Given the description of an element on the screen output the (x, y) to click on. 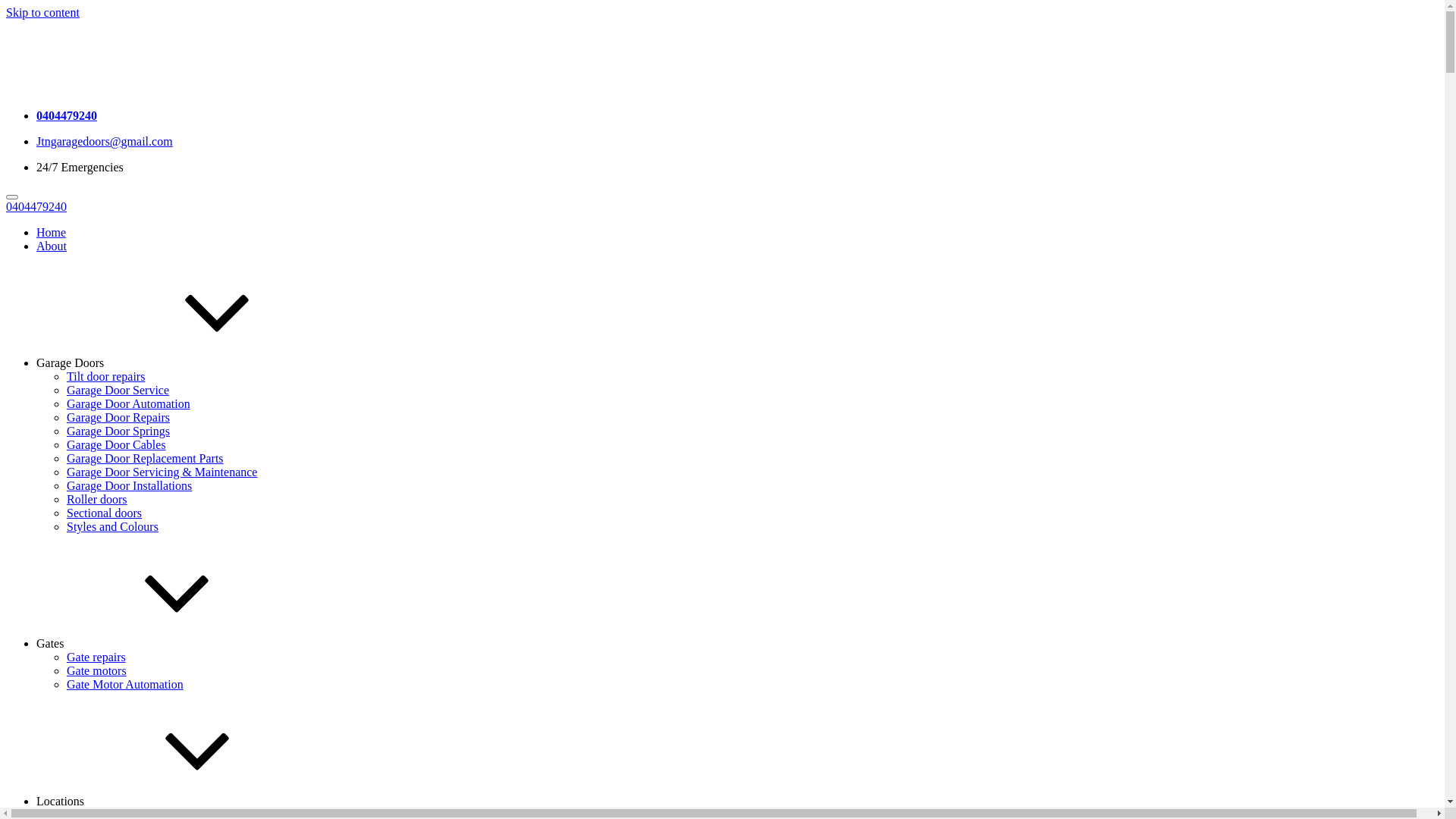
Locations Element type: text (173, 800)
0404479240 Element type: text (66, 115)
Gates Element type: text (163, 643)
Tilt door repairs Element type: text (105, 376)
Garage Door Installations Element type: text (128, 485)
Skip to content Element type: text (42, 12)
Roller doors Element type: text (96, 498)
0404479240 Element type: text (36, 206)
Garage Doors Element type: text (183, 362)
Garage Door Repairs Element type: text (117, 417)
Garage Door Service Element type: text (117, 389)
Home Element type: text (50, 231)
Garage Door Servicing & Maintenance Element type: text (161, 471)
About Element type: text (51, 245)
Styles and Colours Element type: text (112, 526)
Sectional doors Element type: text (103, 512)
Gate Motor Automation Element type: text (124, 683)
Jtngaragedoors@gmail.com Element type: text (104, 140)
Gate repairs Element type: text (95, 656)
Garage Door Springs Element type: text (117, 430)
Garage Door Replacement Parts Element type: text (144, 457)
Gate motors Element type: text (96, 670)
Garage Door Automation Element type: text (128, 403)
Garage Door Cables Element type: text (116, 444)
